Given the description of an element on the screen output the (x, y) to click on. 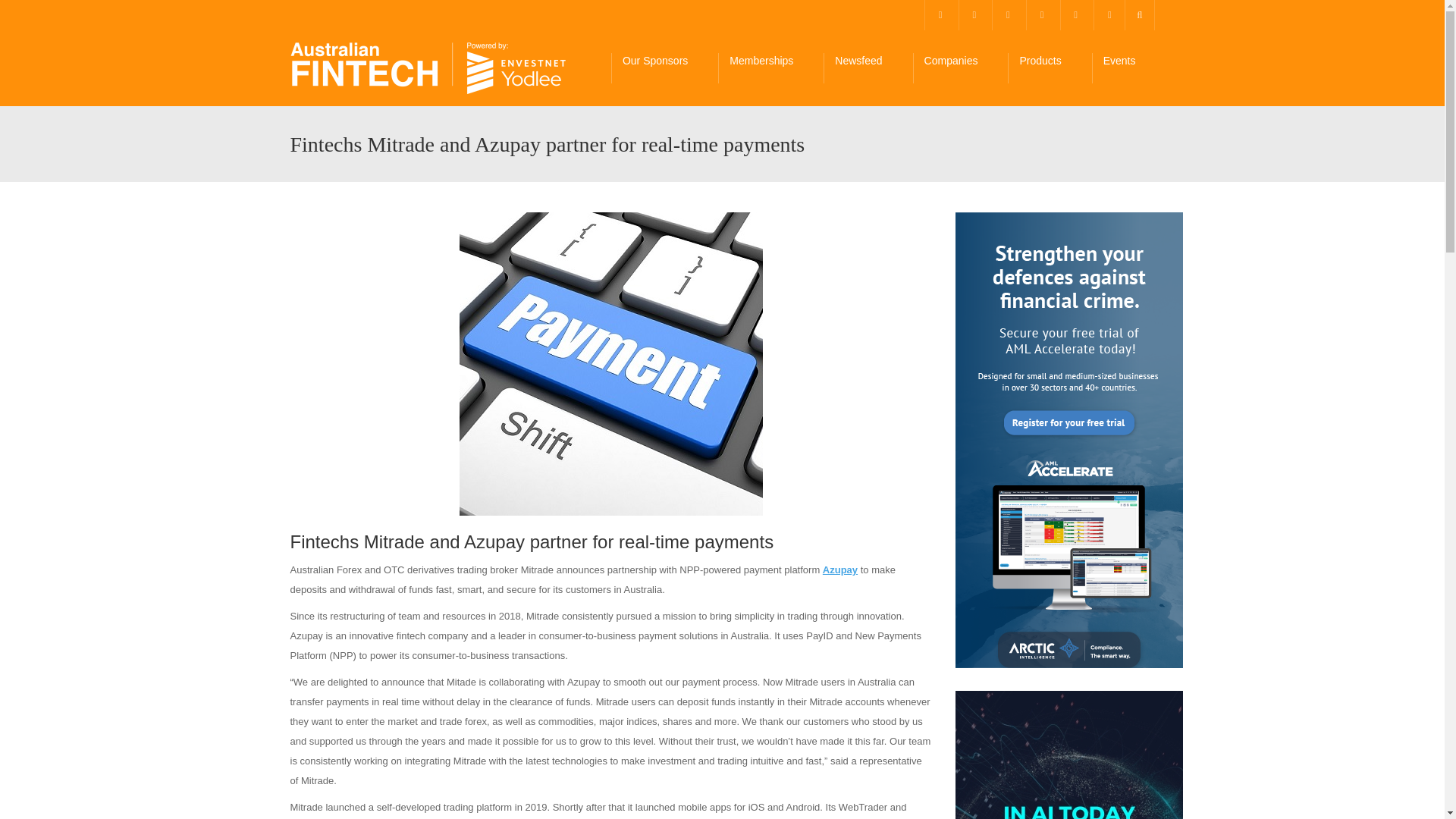
Azupay (839, 569)
Our Sponsors (664, 68)
Events (1129, 68)
Memberships (770, 68)
Products (1048, 68)
Newsfeed (868, 68)
Companies (960, 68)
Fintechs Mitrade and Azupay partner for real-time payments (611, 363)
